Given the description of an element on the screen output the (x, y) to click on. 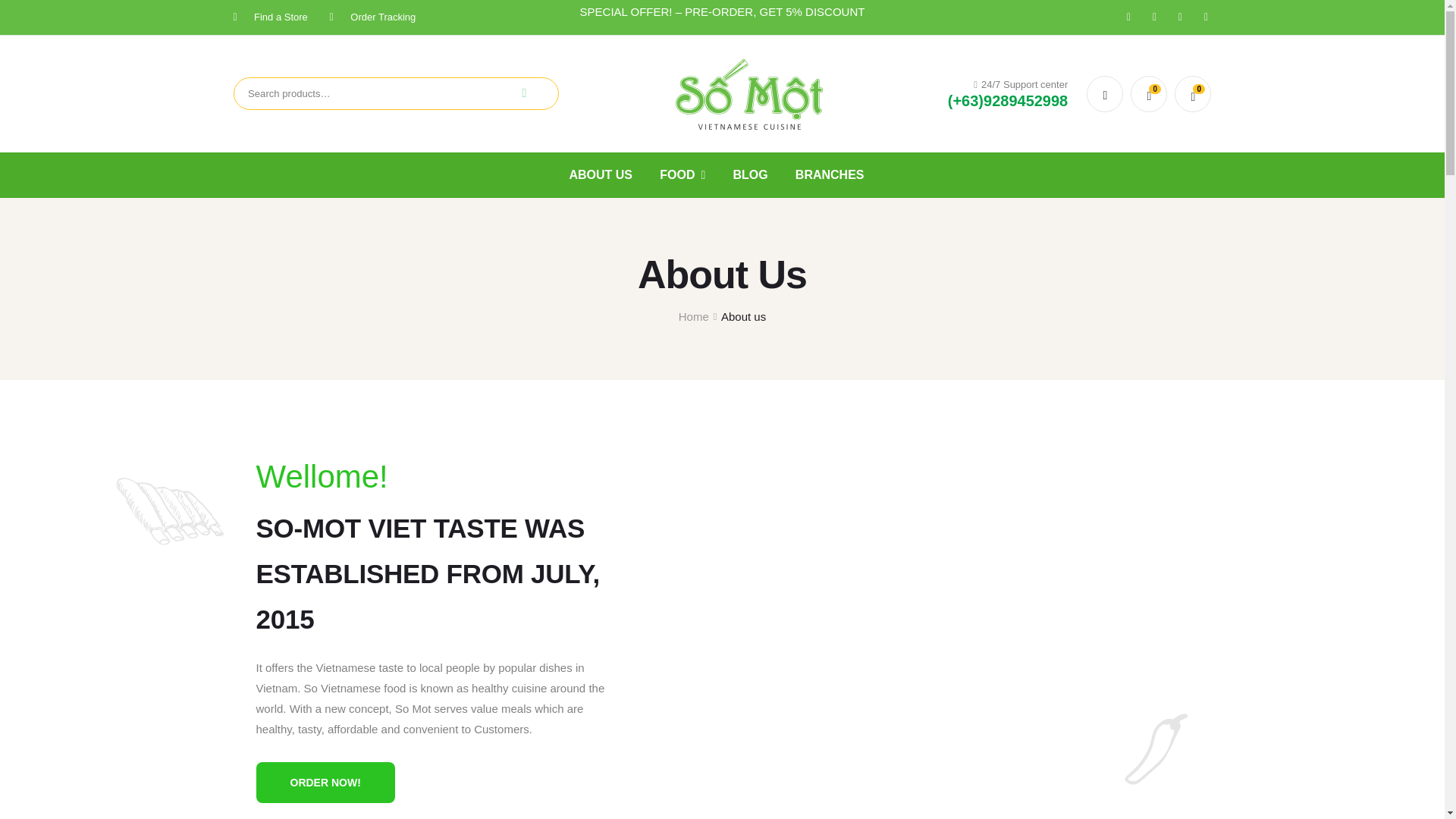
0 (1149, 94)
SEARCH (523, 92)
BLOG (749, 175)
BRANCHES (829, 175)
View your shopping cart (1192, 94)
FOOD (682, 175)
0 (1192, 94)
Order Tracking (372, 16)
Find a Store (269, 16)
ABOUT US (600, 175)
